Given the description of an element on the screen output the (x, y) to click on. 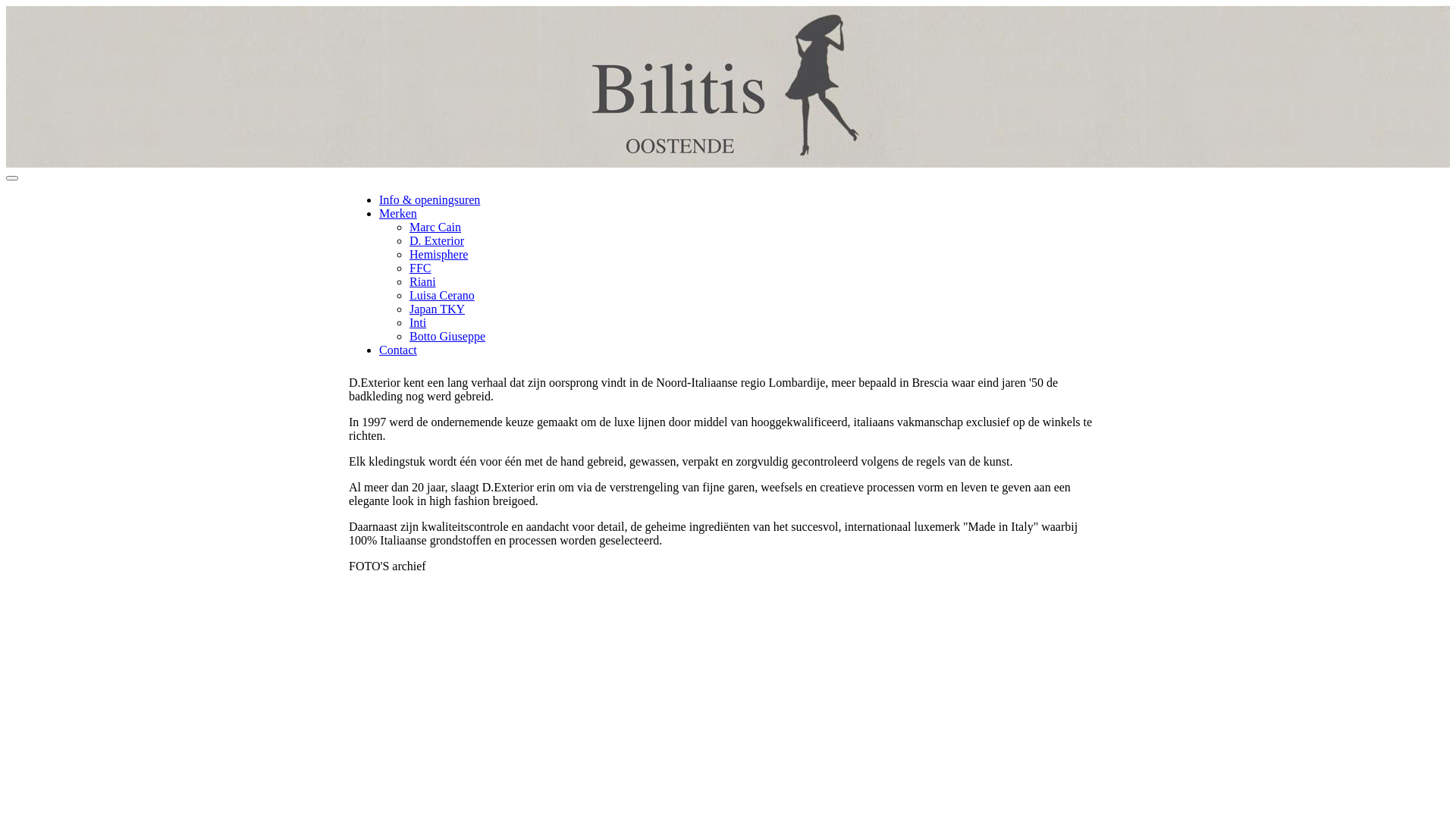
Merken Element type: text (398, 213)
Botto Giuseppe Element type: text (447, 335)
Hemisphere Element type: text (438, 253)
Inti Element type: text (417, 322)
FFC Element type: text (419, 267)
Japan TKY Element type: text (436, 308)
D. Exterior Element type: text (436, 240)
Riani Element type: text (422, 281)
Marc Cain Element type: text (435, 226)
Luisa Cerano Element type: text (441, 294)
Info & openingsuren Element type: text (429, 199)
Contact Element type: text (398, 349)
